Given the description of an element on the screen output the (x, y) to click on. 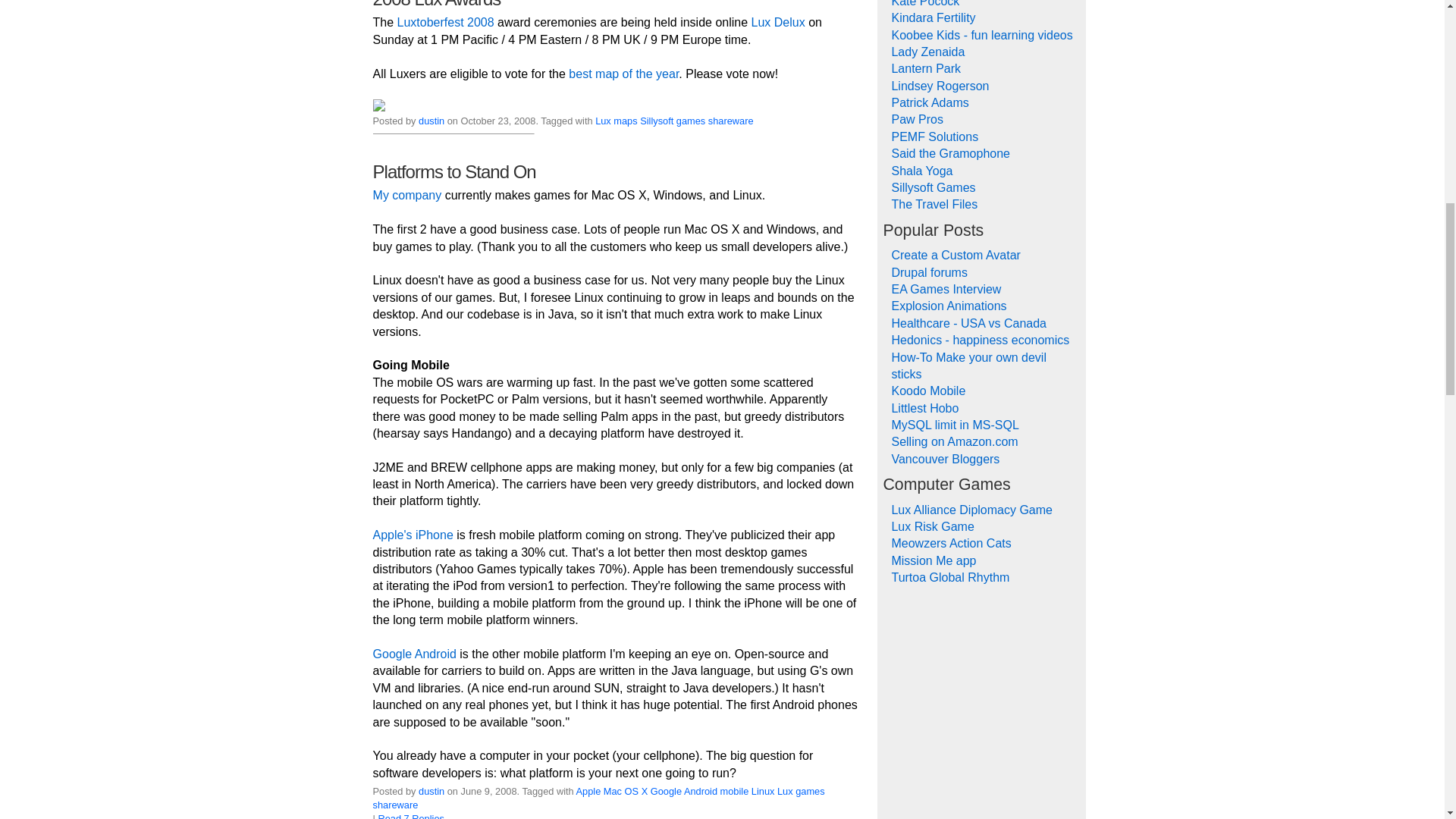
dustin (431, 790)
Apple (588, 790)
Luxtoberfest 2008 (446, 21)
Platforms to Stand On (453, 171)
mobile (734, 790)
Mac (612, 790)
Android (700, 790)
games (690, 120)
Lux Delux (778, 21)
shareware (730, 120)
